Given the description of an element on the screen output the (x, y) to click on. 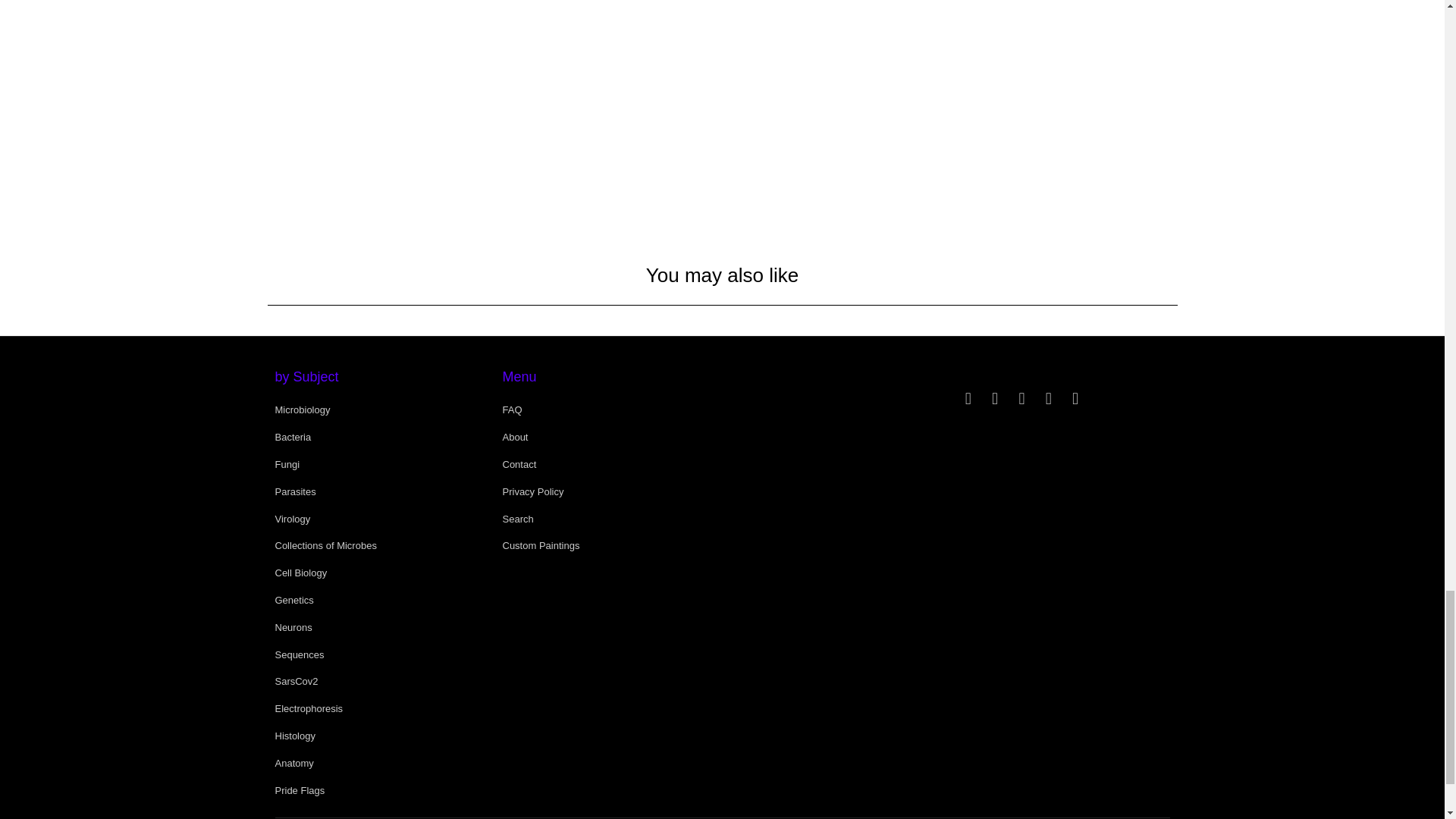
Sandra Black on Twitter (967, 398)
Sandra Black on Facebook (995, 398)
Sandra Black on Tumblr (1021, 398)
Directly from the artist. (949, 89)
